Given the description of an element on the screen output the (x, y) to click on. 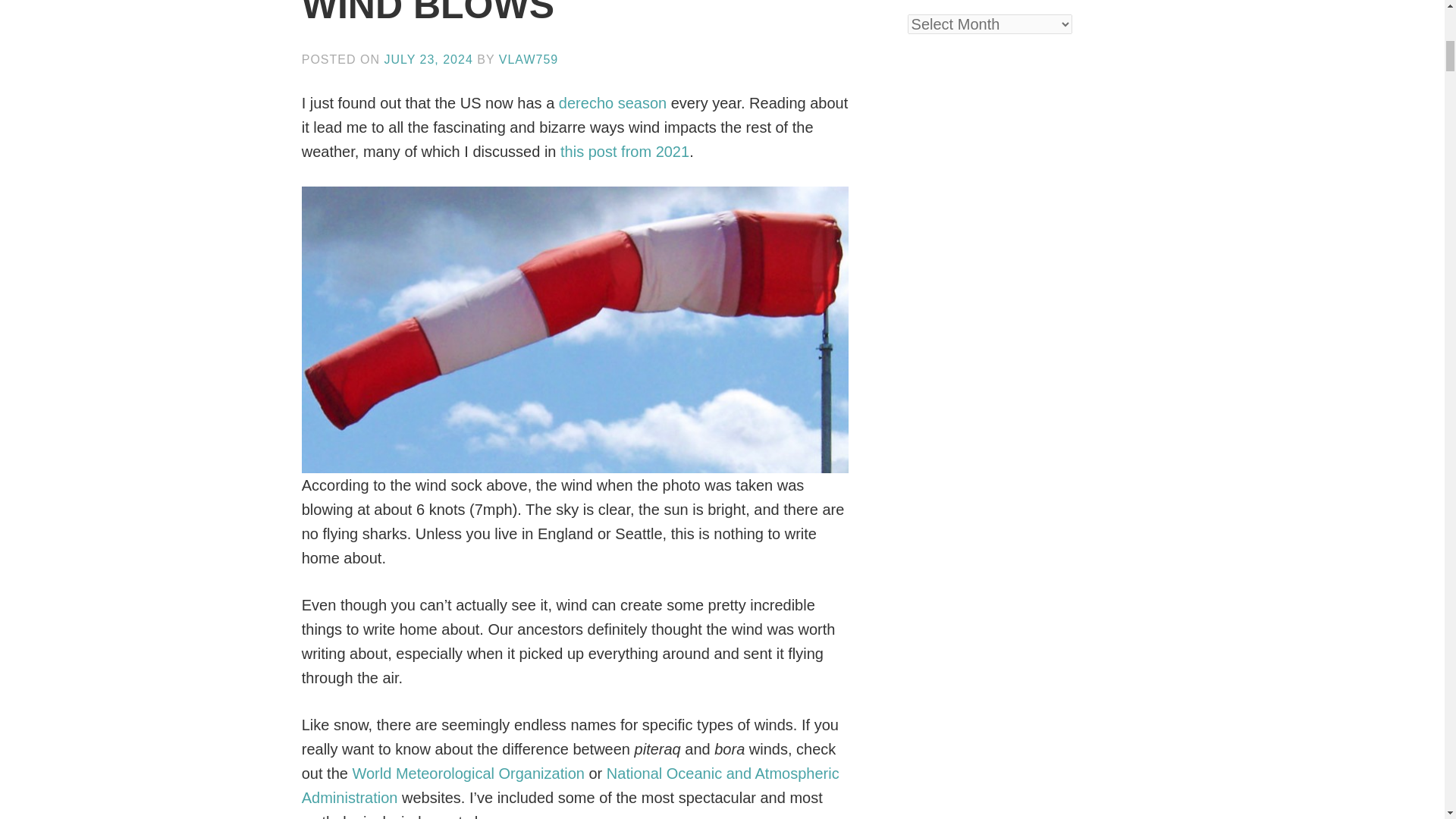
VLAW759 (528, 59)
derecho season (612, 103)
JULY 23, 2024 (427, 59)
KNOW WHICH WAY THE WIND BLOWS (520, 13)
